Given the description of an element on the screen output the (x, y) to click on. 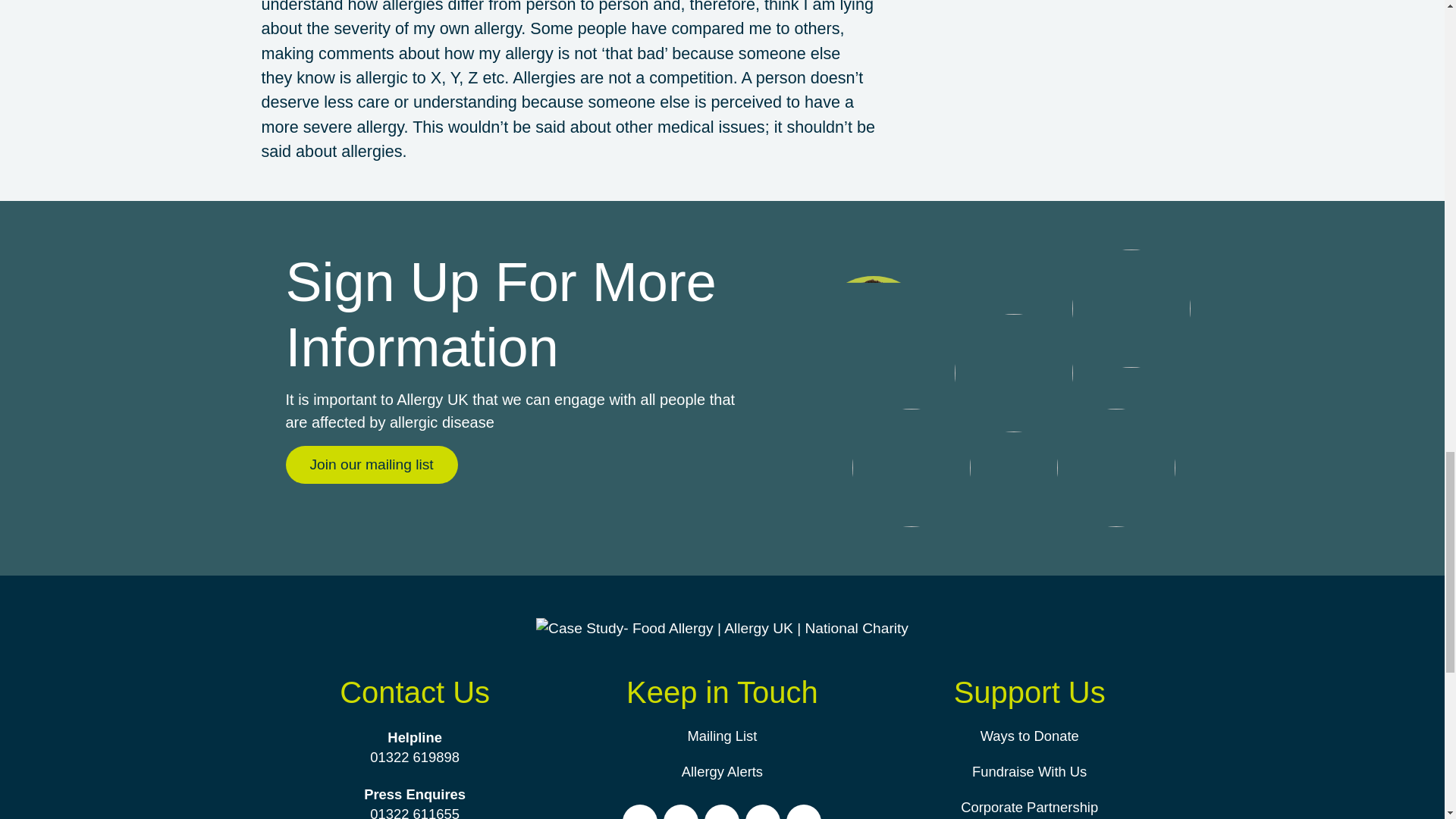
Facebook (640, 814)
Linkedin (803, 814)
Twitter (721, 814)
Youtube (762, 814)
Instagram (680, 814)
